Given the description of an element on the screen output the (x, y) to click on. 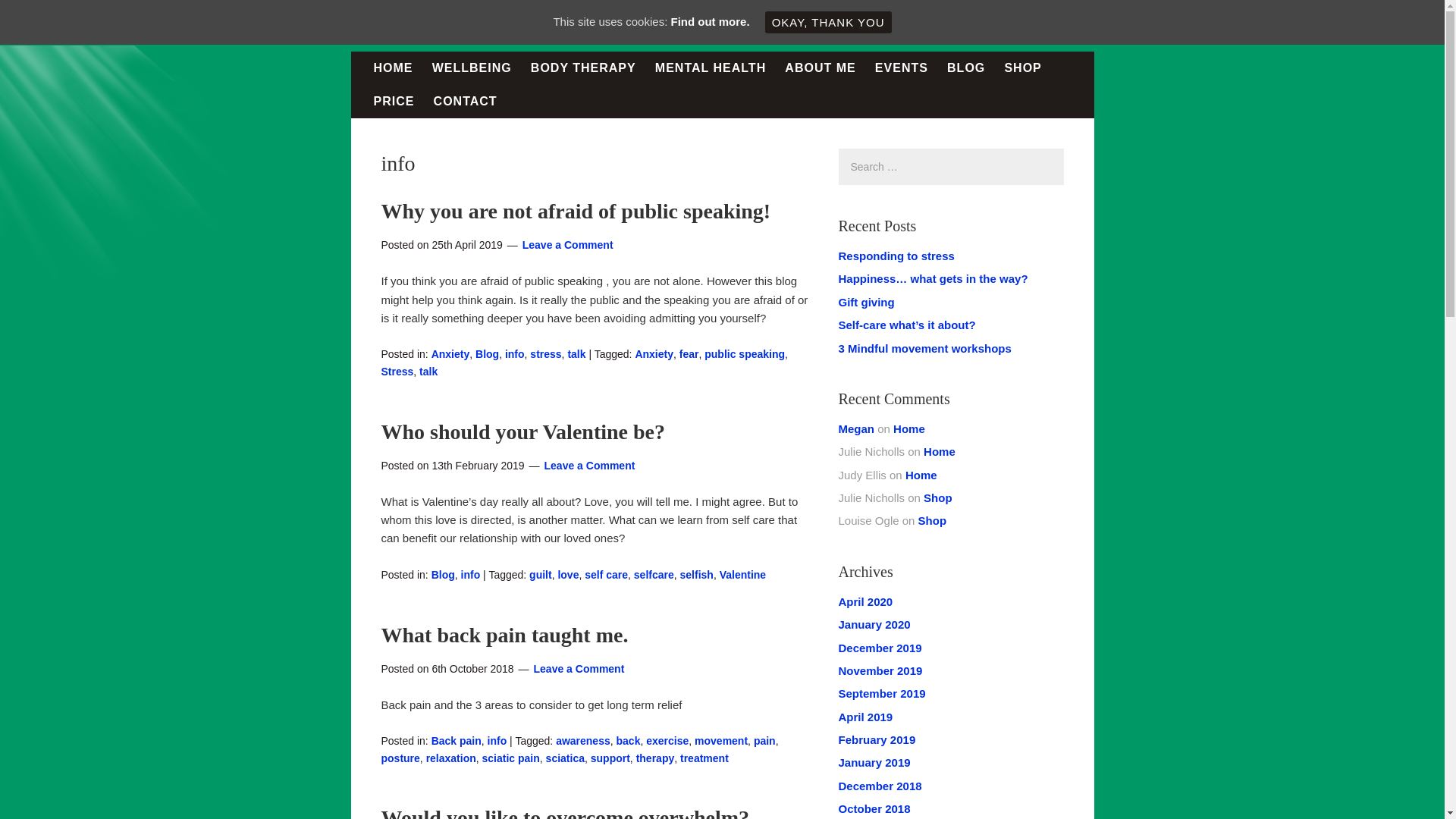
Leave a Comment (589, 465)
WELLBEING (472, 68)
Why you are not afraid of public speaking! (575, 210)
SHOP (1021, 68)
Who should your Valentine be? (522, 431)
talk (576, 354)
love (567, 574)
EVENTS (901, 68)
info (470, 574)
guilt (540, 574)
Leave a Comment (567, 244)
BLOG (965, 68)
Anxiety (450, 354)
Blog (487, 354)
